Given the description of an element on the screen output the (x, y) to click on. 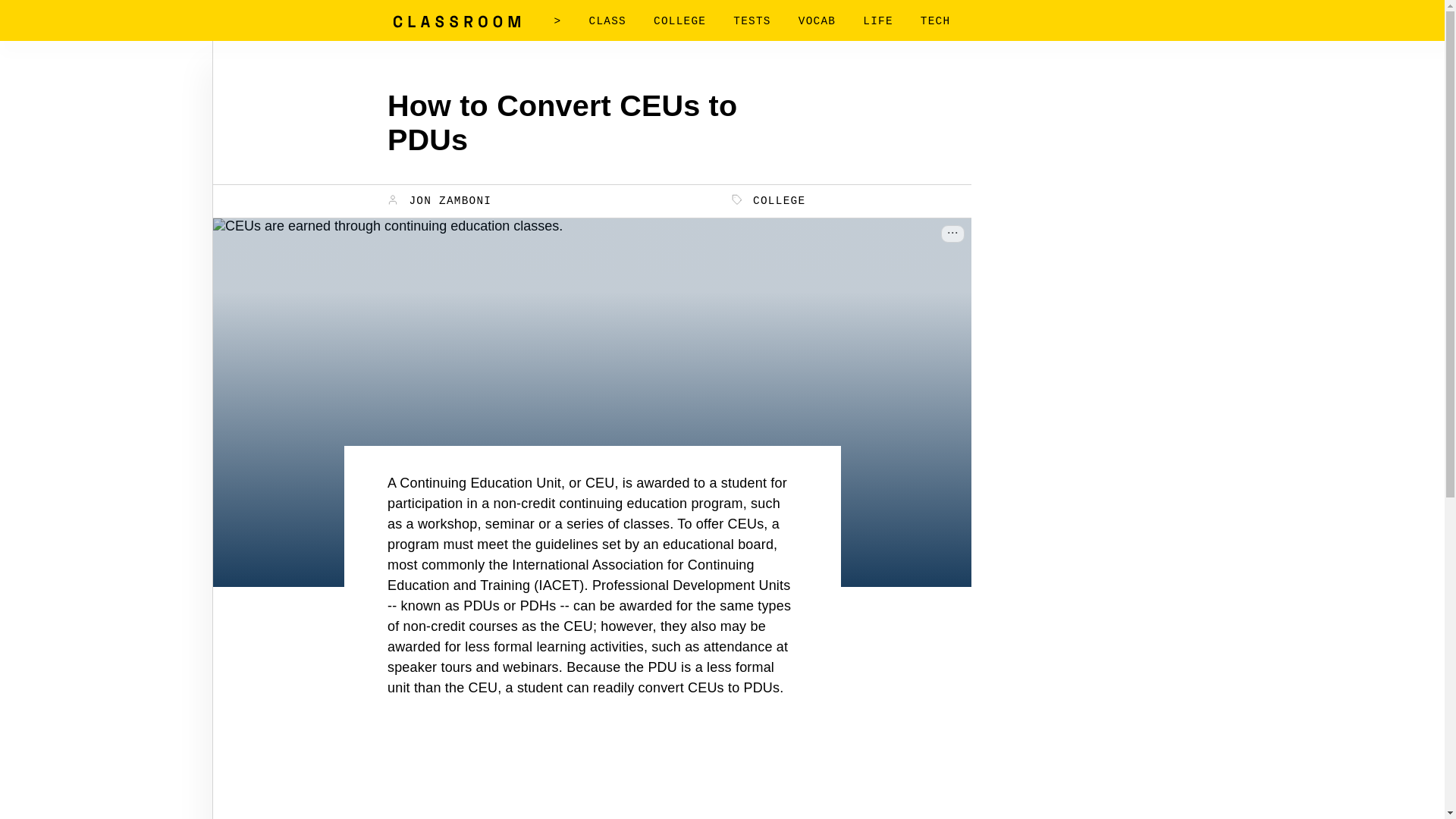
VOCAB (816, 21)
COLLEGE (769, 200)
COLLEGE (679, 21)
LIFE (878, 21)
TECH (935, 21)
CLASS (607, 21)
TESTS (751, 21)
